Given the description of an element on the screen output the (x, y) to click on. 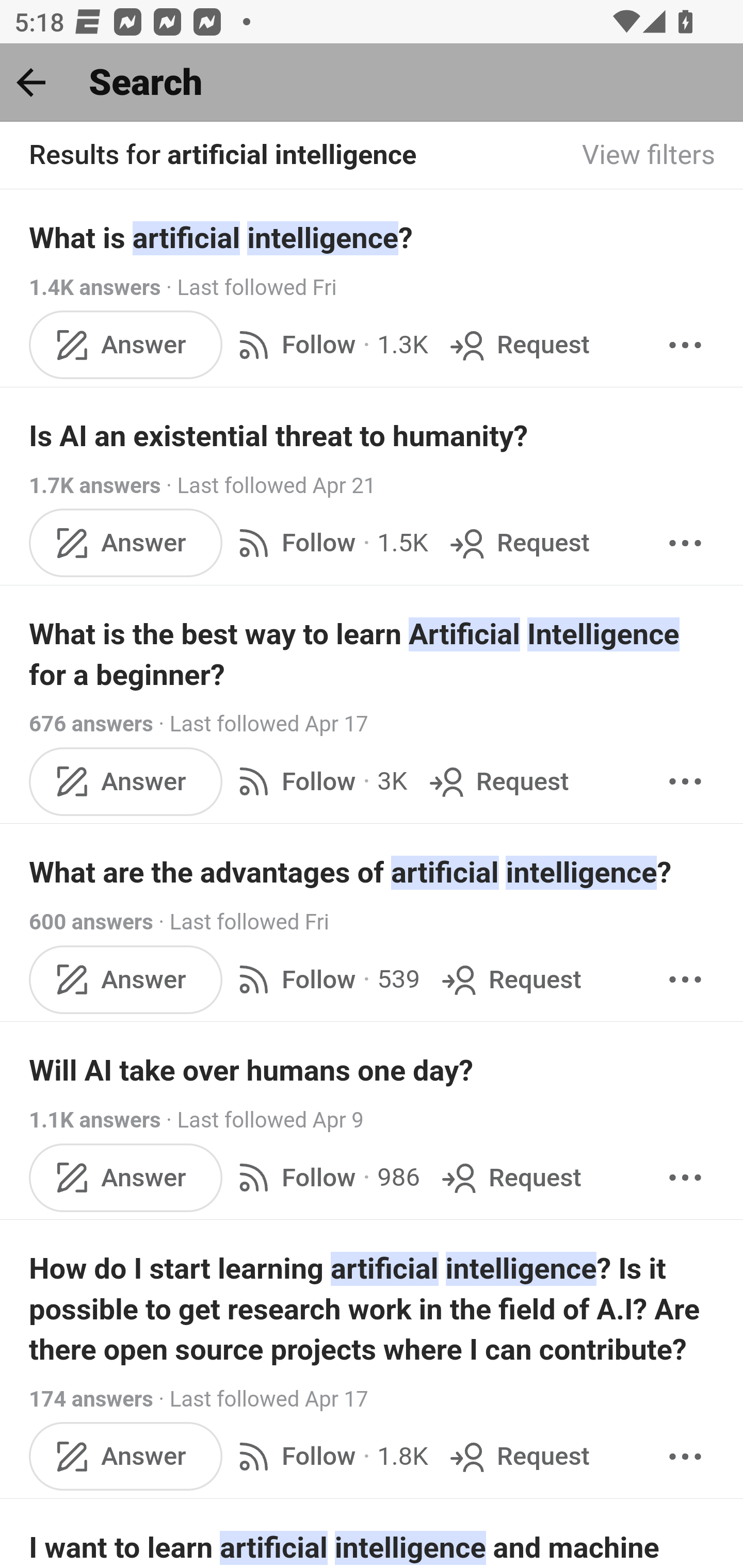
Back Search (371, 82)
Back (30, 82)
View filters (648, 155)
What is artificial intelligence? (372, 237)
1.4K answers 1.4K  answers (95, 287)
Answer (125, 343)
Follow · 1.3K (329, 343)
Request (517, 343)
More (684, 343)
Is AI an existential threat to humanity? (372, 436)
1.7K answers 1.7K  answers (95, 484)
Answer (125, 543)
Follow · 1.5K (329, 543)
Request (517, 543)
More (684, 543)
676 answers 676  answers (90, 723)
Answer (125, 781)
Follow · 3K (318, 781)
Request (496, 781)
More (684, 781)
600 answers 600  answers (90, 922)
Answer (125, 979)
Follow · 539 (324, 979)
Request (509, 979)
More (684, 979)
Will AI take over humans one day? (372, 1070)
1.1K answers 1.1K  answers (95, 1120)
Answer (125, 1176)
Follow · 986 (324, 1176)
Request (509, 1176)
More (684, 1176)
174 answers 174  answers (90, 1399)
Answer (125, 1456)
Follow · 1.8K (329, 1456)
Request (517, 1456)
More (684, 1456)
